Given the description of an element on the screen output the (x, y) to click on. 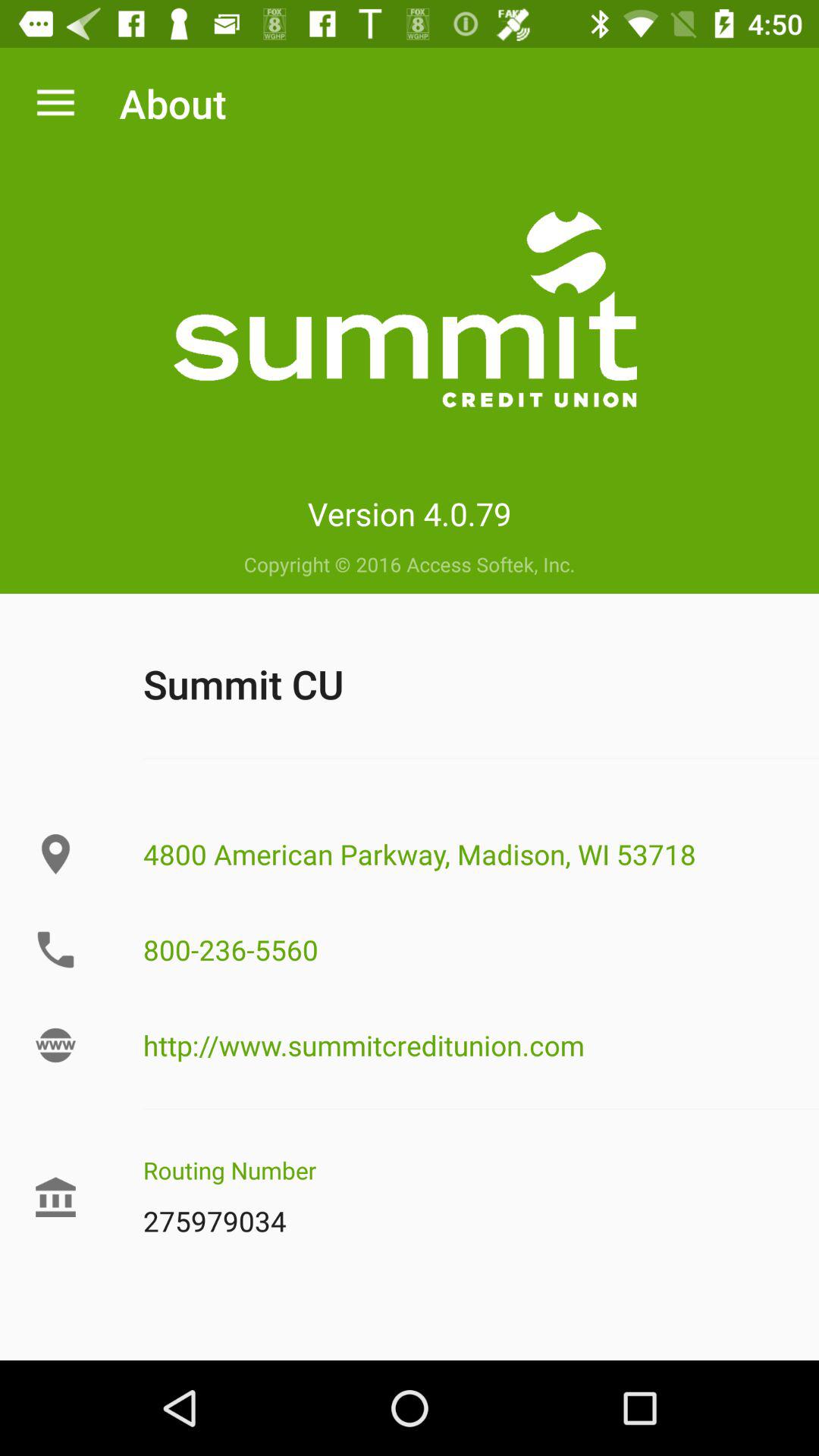
scroll until the 800-236-5560 (465, 949)
